Given the description of an element on the screen output the (x, y) to click on. 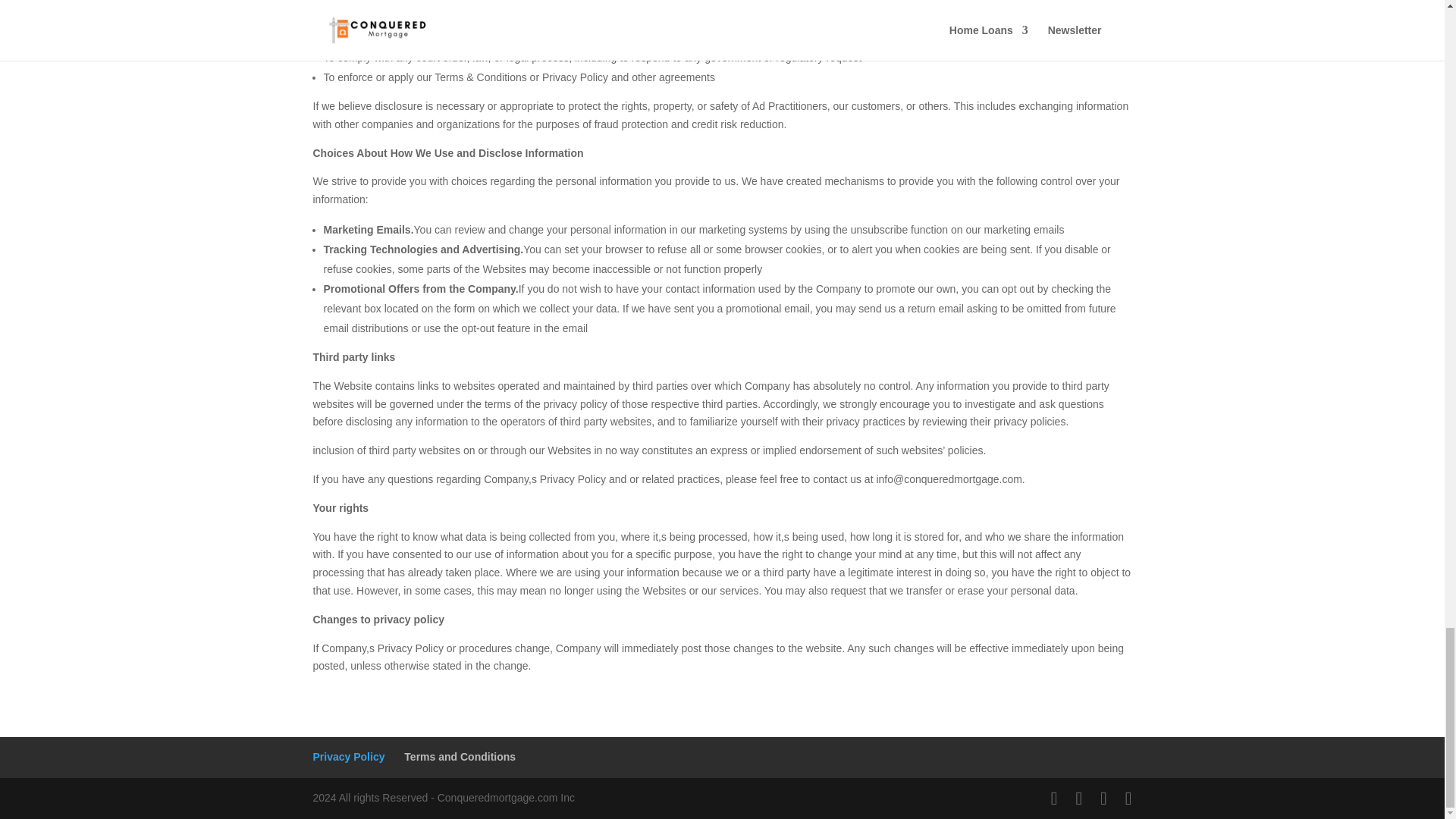
Terms and Conditions (459, 756)
Privacy Policy (348, 756)
